Given the description of an element on the screen output the (x, y) to click on. 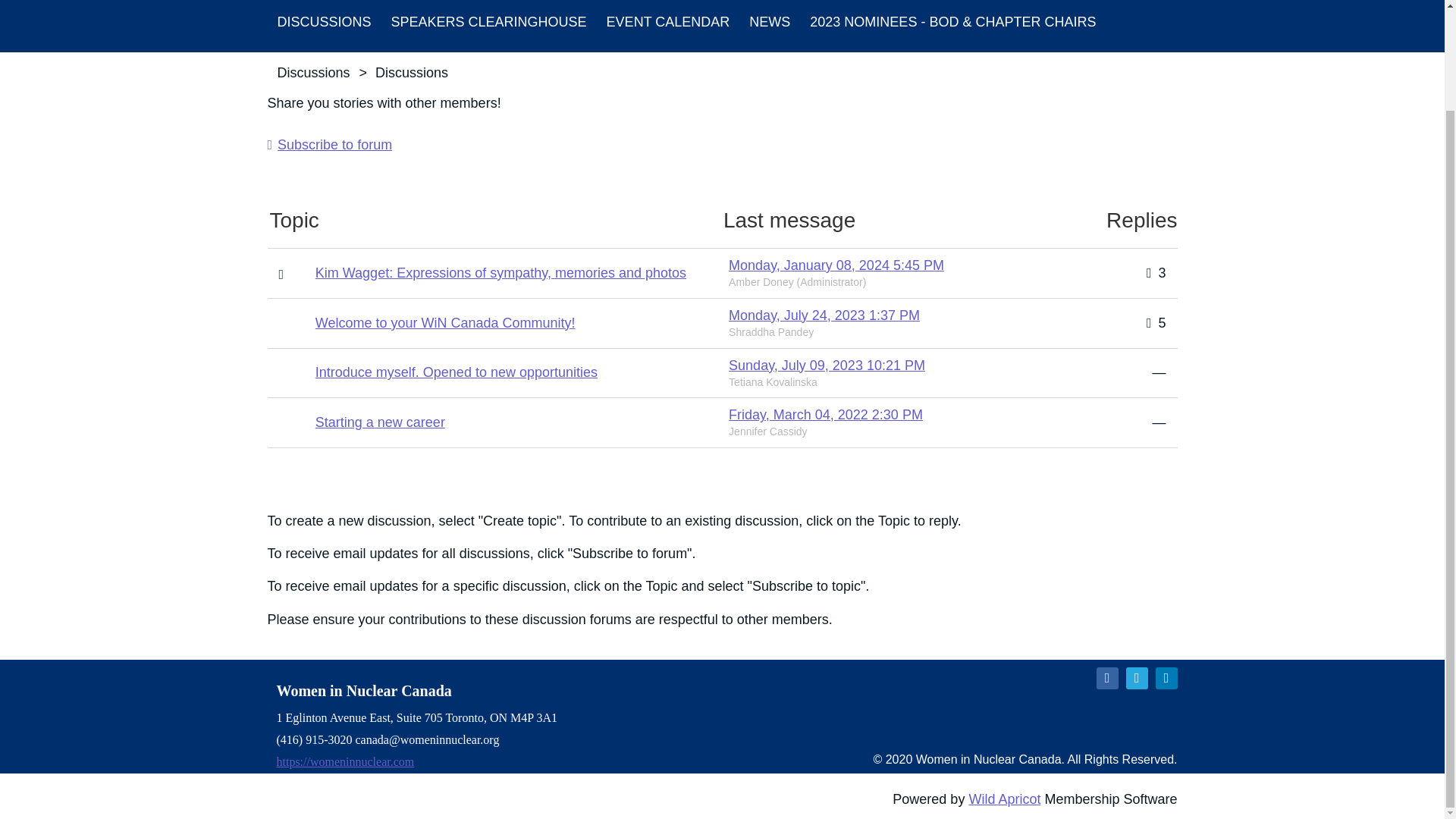
LinkedIn (1166, 678)
Introduce myself. Opened to new opportunities (455, 372)
Twitter (1136, 678)
Discussions (323, 26)
Monday, July 24, 2023 1:37 PM (824, 314)
Event calendar (667, 26)
Kim Wagget: Expressions of sympathy, memories and photos (500, 272)
Subscribe to forum (328, 144)
Wild Apricot (1004, 798)
DISCUSSIONS (323, 26)
Sunday, July 09, 2023 10:21 PM (826, 365)
SPEAKERS CLEARINGHOUSE (488, 26)
Speakers Clearinghouse (488, 26)
NEWS (769, 26)
Starting a new career (380, 421)
